Given the description of an element on the screen output the (x, y) to click on. 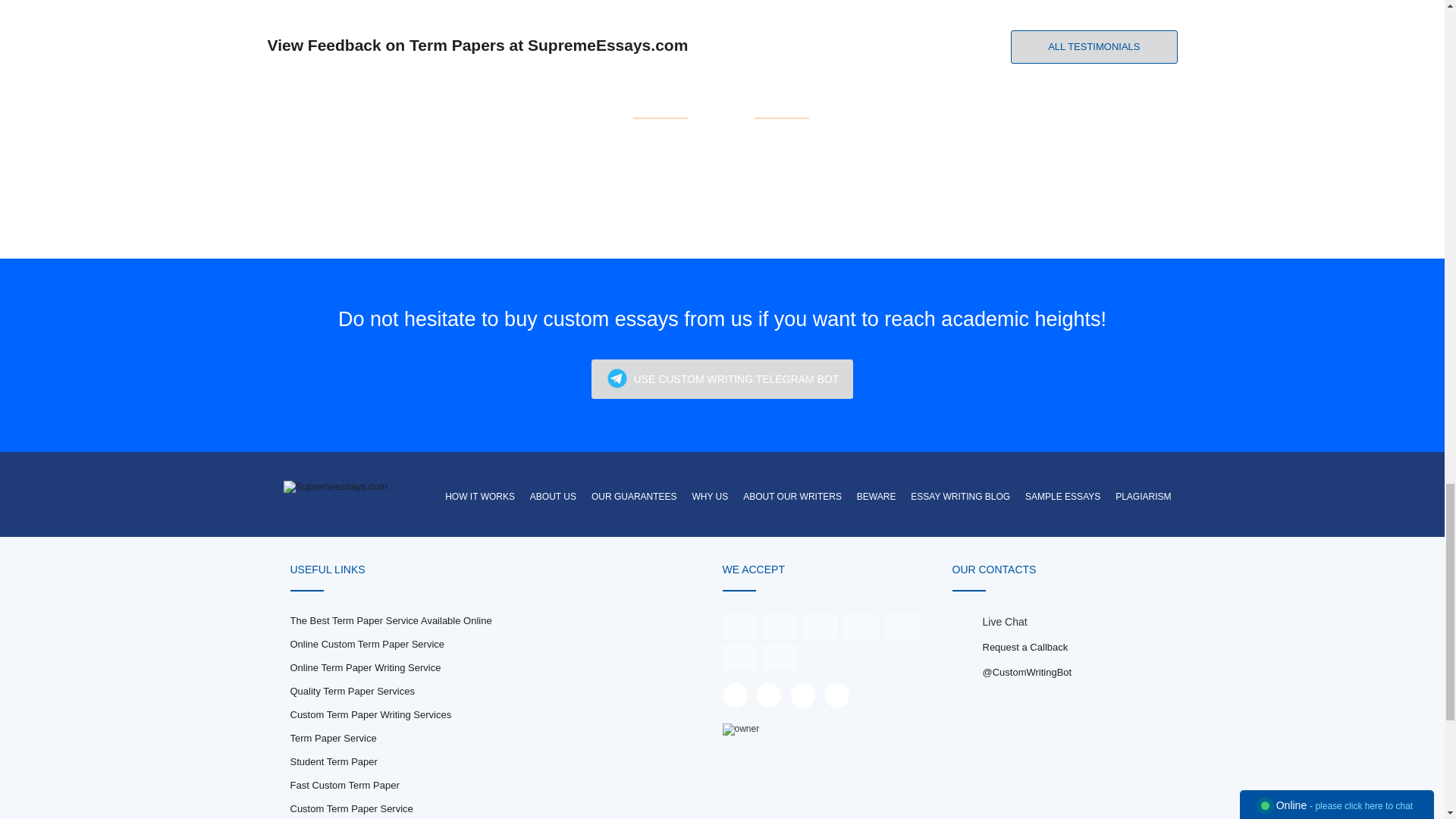
Apple pay (861, 625)
WHY US (709, 496)
ESSAY WRITING BLOG (960, 496)
Credit and debit cards by Visa (738, 625)
Online Custom Term Paper Service (366, 644)
BEWARE (876, 496)
Credit cards by Diners Club (738, 655)
Credit and debit cards by MasterCard (779, 625)
PLAGIARISM (1142, 496)
